Given the description of an element on the screen output the (x, y) to click on. 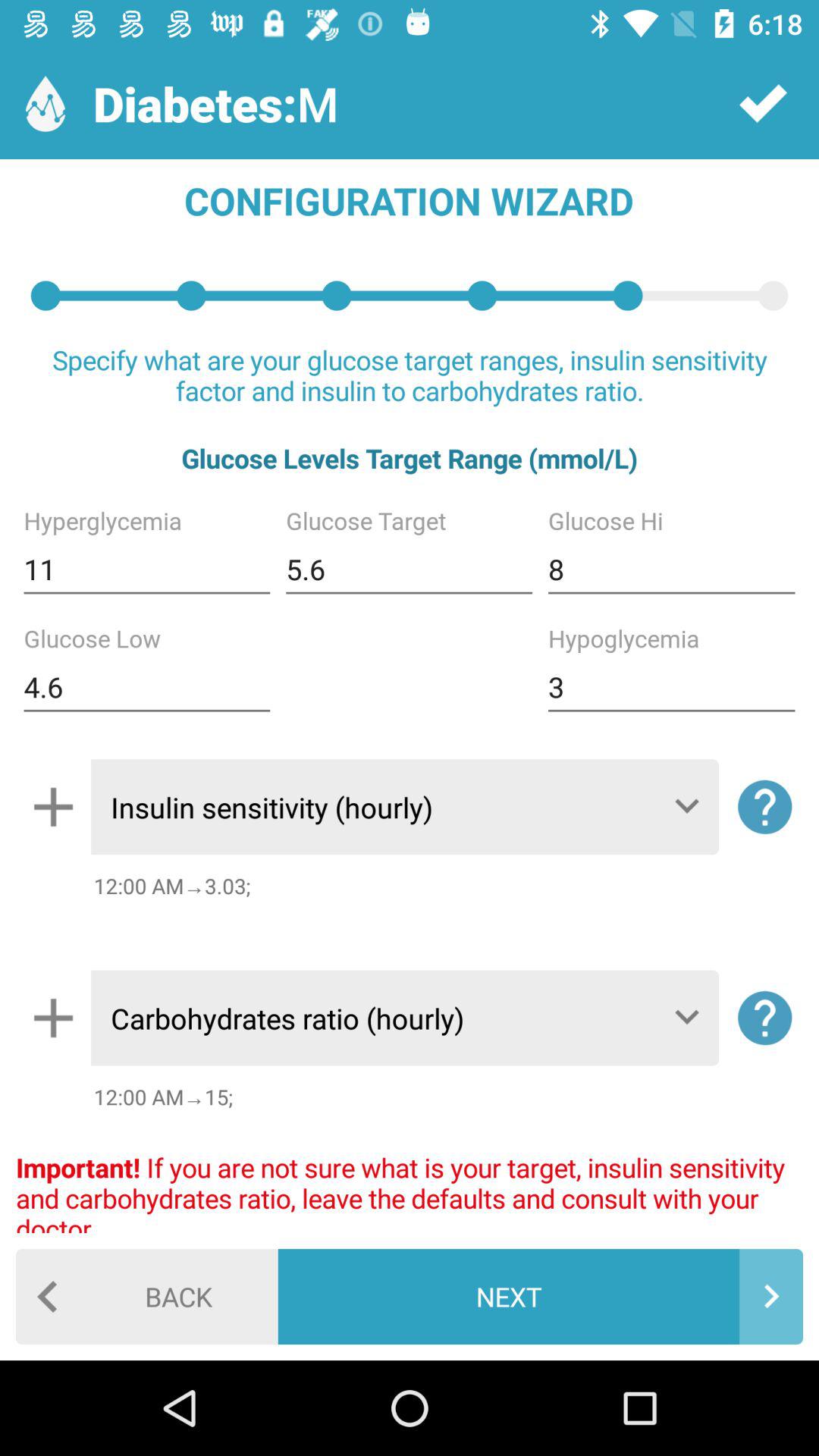
launch icon below the important if you item (146, 1296)
